Given the description of an element on the screen output the (x, y) to click on. 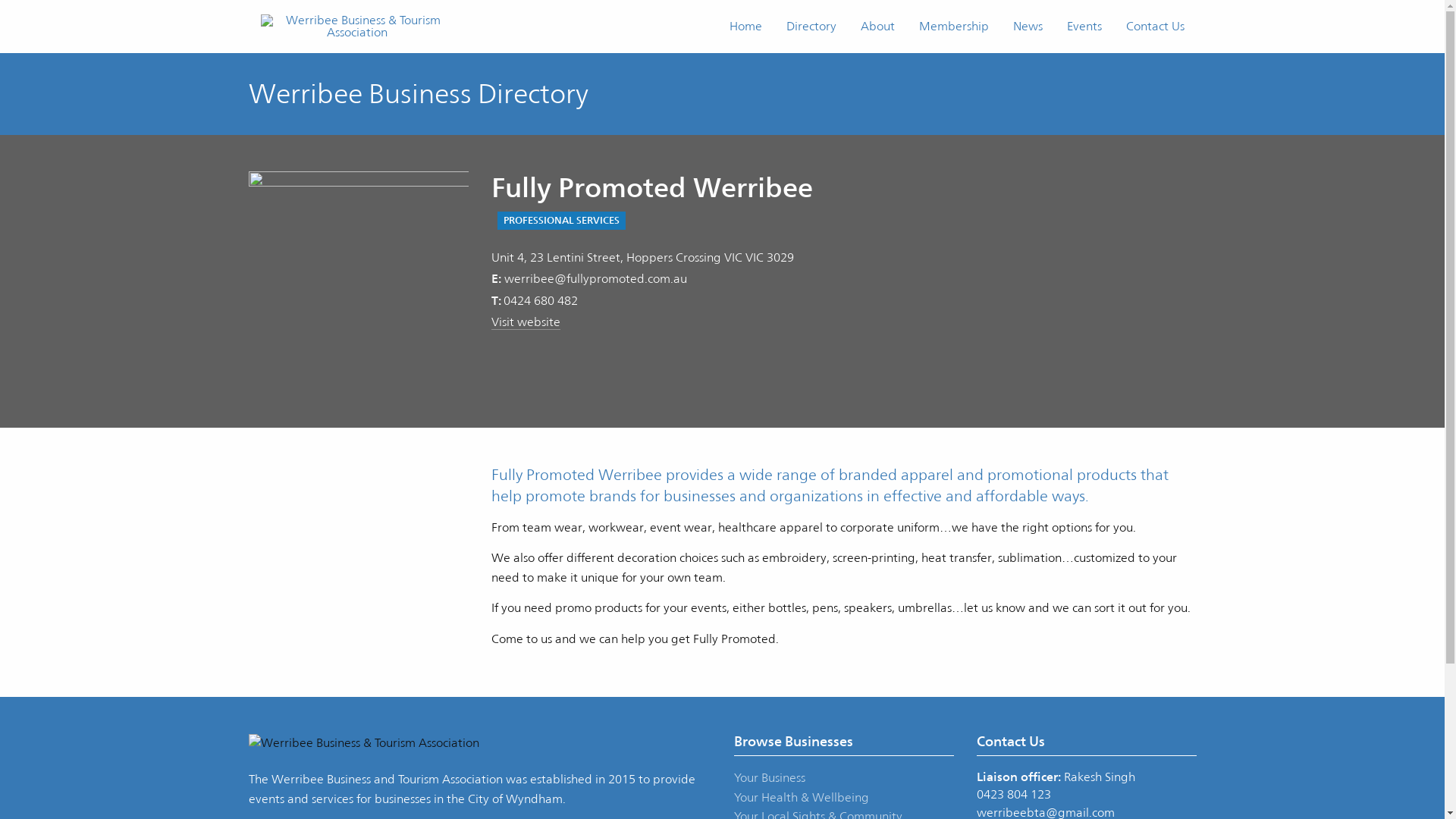
Contact Us Element type: text (1154, 26)
News Element type: text (1027, 26)
Your Health & Wellbeing Element type: text (801, 797)
Visit website Element type: text (525, 321)
Membership Element type: text (953, 26)
About Element type: text (876, 26)
Events Element type: text (1083, 26)
Your Business Element type: text (769, 777)
Directory Element type: text (810, 26)
Home Element type: text (745, 26)
